Given the description of an element on the screen output the (x, y) to click on. 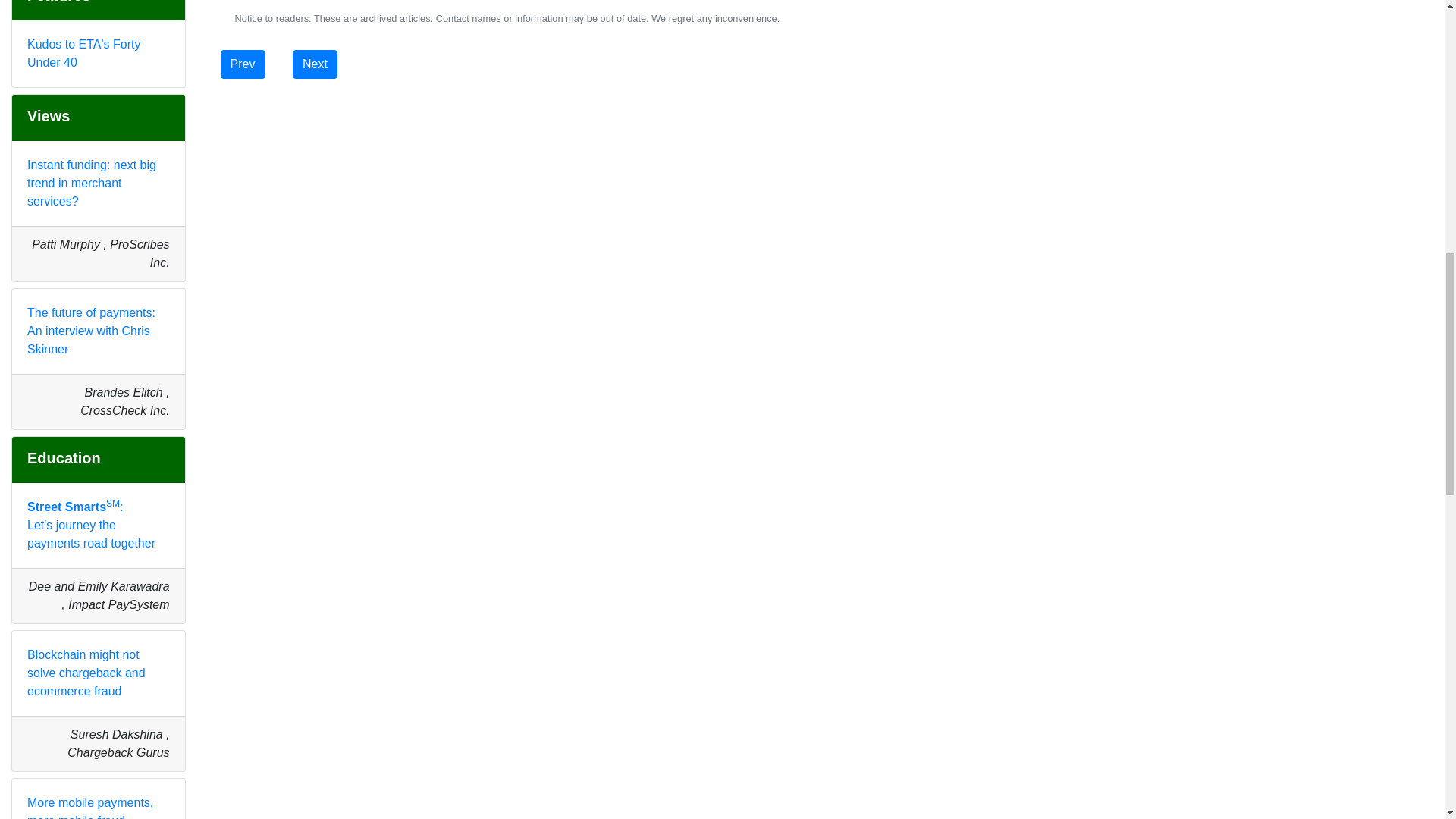
Prev (242, 63)
Next (314, 63)
